Given the description of an element on the screen output the (x, y) to click on. 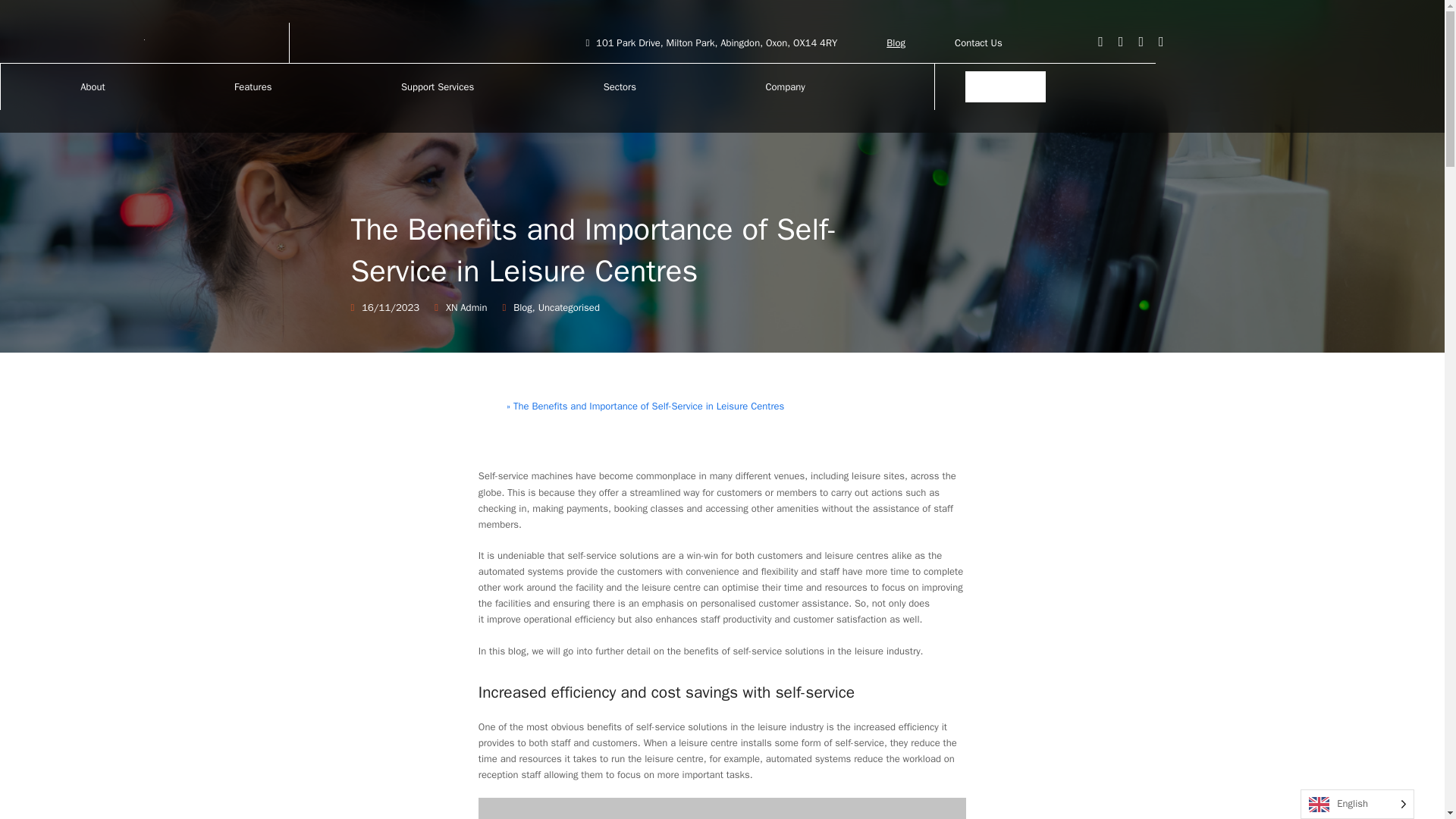
Features (252, 86)
Support Services (437, 86)
Blog (522, 307)
About (92, 86)
Book Demo (1005, 86)
101 Park Drive, Milton Park, Abingdon, Oxon, OX14 4RY (711, 42)
Company (785, 86)
Blog (895, 42)
Sectors (620, 86)
XN Admin (466, 307)
